Given the description of an element on the screen output the (x, y) to click on. 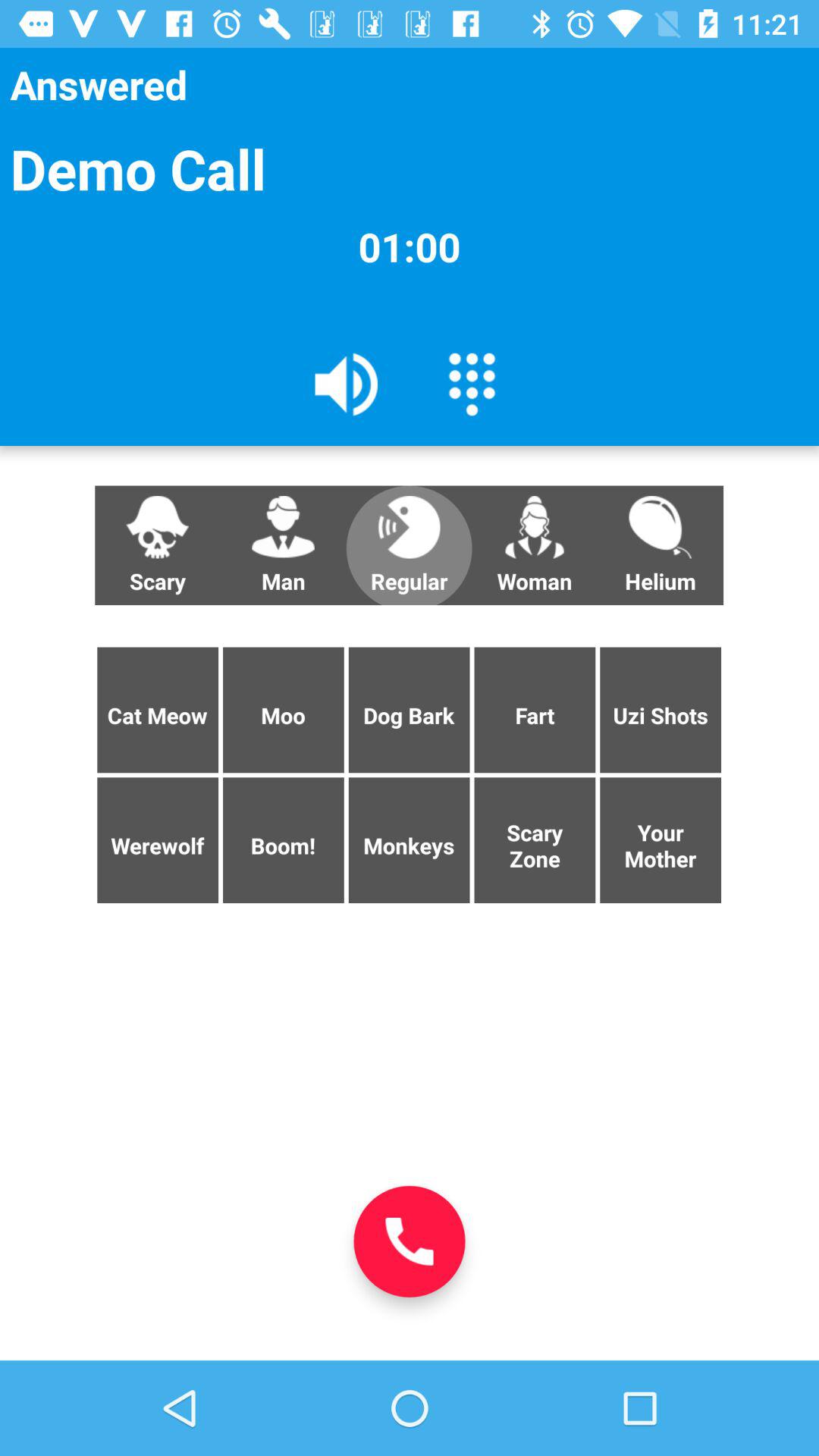
tap app above the cat meow icon (283, 545)
